Given the description of an element on the screen output the (x, y) to click on. 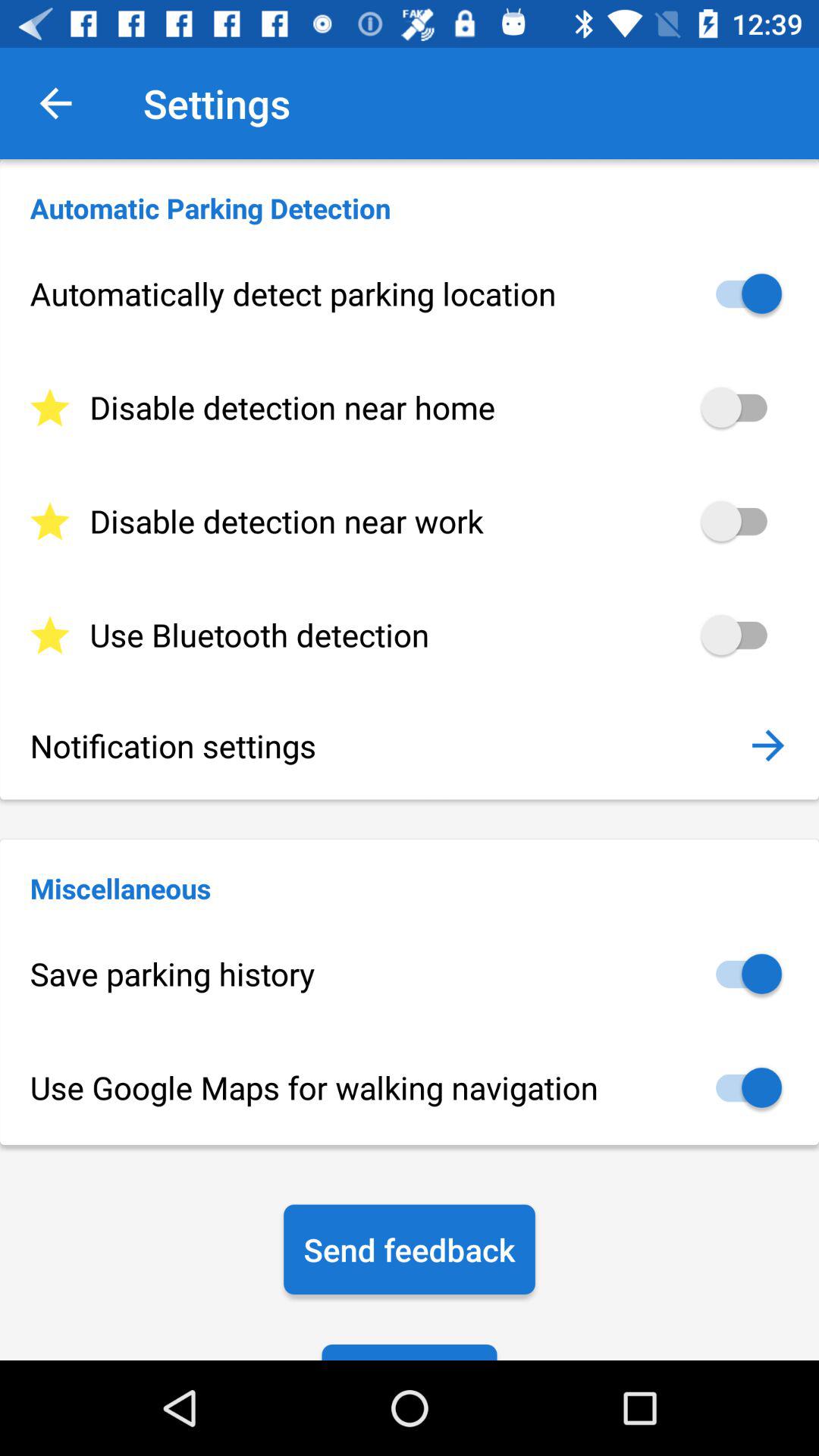
turn on icon below save parking history item (409, 1087)
